Given the description of an element on the screen output the (x, y) to click on. 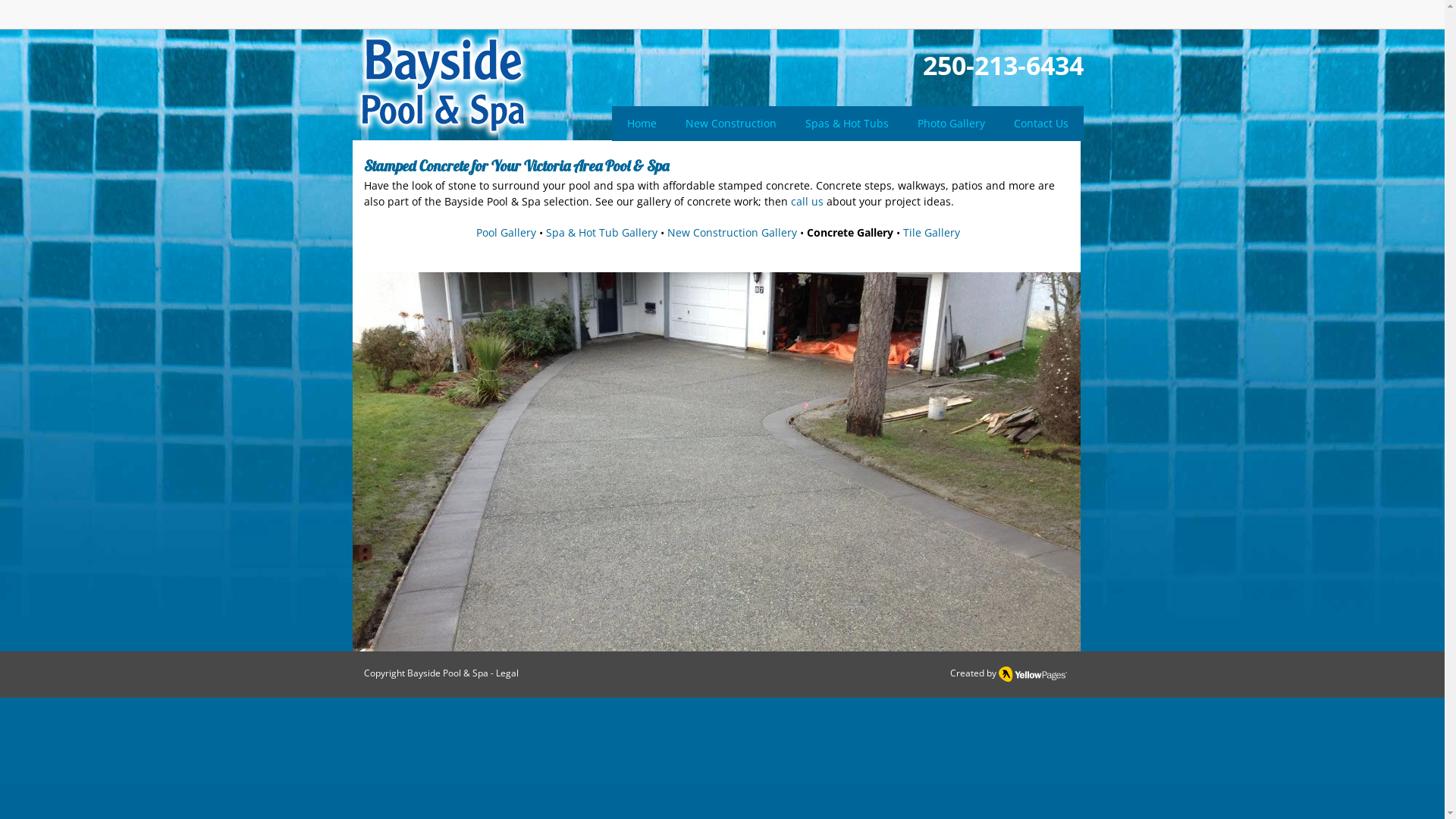
Contact Us Element type: text (1039, 123)
Tile Gallery Element type: text (931, 232)
250-213-6434 Element type: text (1002, 64)
Embedded Content Element type: hover (957, 13)
Pool Gallery Element type: text (506, 232)
Spas & Hot Tubs Element type: text (846, 123)
Home Element type: text (641, 123)
Bayside Pool & Spa Element type: text (446, 672)
Legal Element type: text (506, 672)
New Construction Gallery Element type: text (732, 232)
Embedded Content Element type: hover (1063, 19)
New Construction Element type: text (730, 123)
Spa & Hot Tub Gallery Element type: text (601, 232)
call us Element type: text (806, 201)
